Given the description of an element on the screen output the (x, y) to click on. 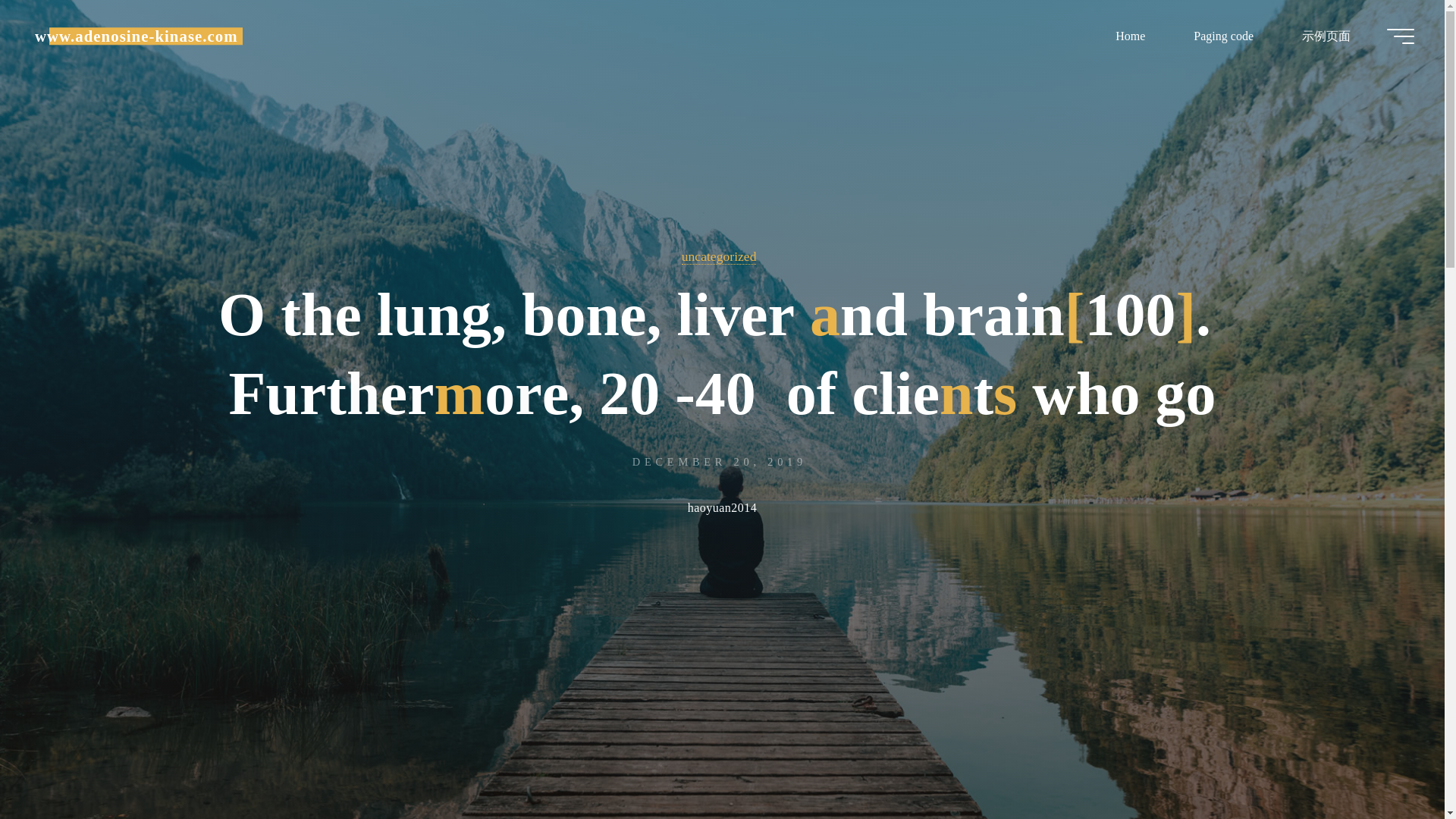
Home (1129, 35)
haoyuan2014 (722, 509)
Paging code (1223, 35)
uncategorized (719, 256)
Read more (721, 724)
www.adenosine-kinase.com (136, 36)
View all posts by haoyuan2014 (722, 509)
